Given the description of an element on the screen output the (x, y) to click on. 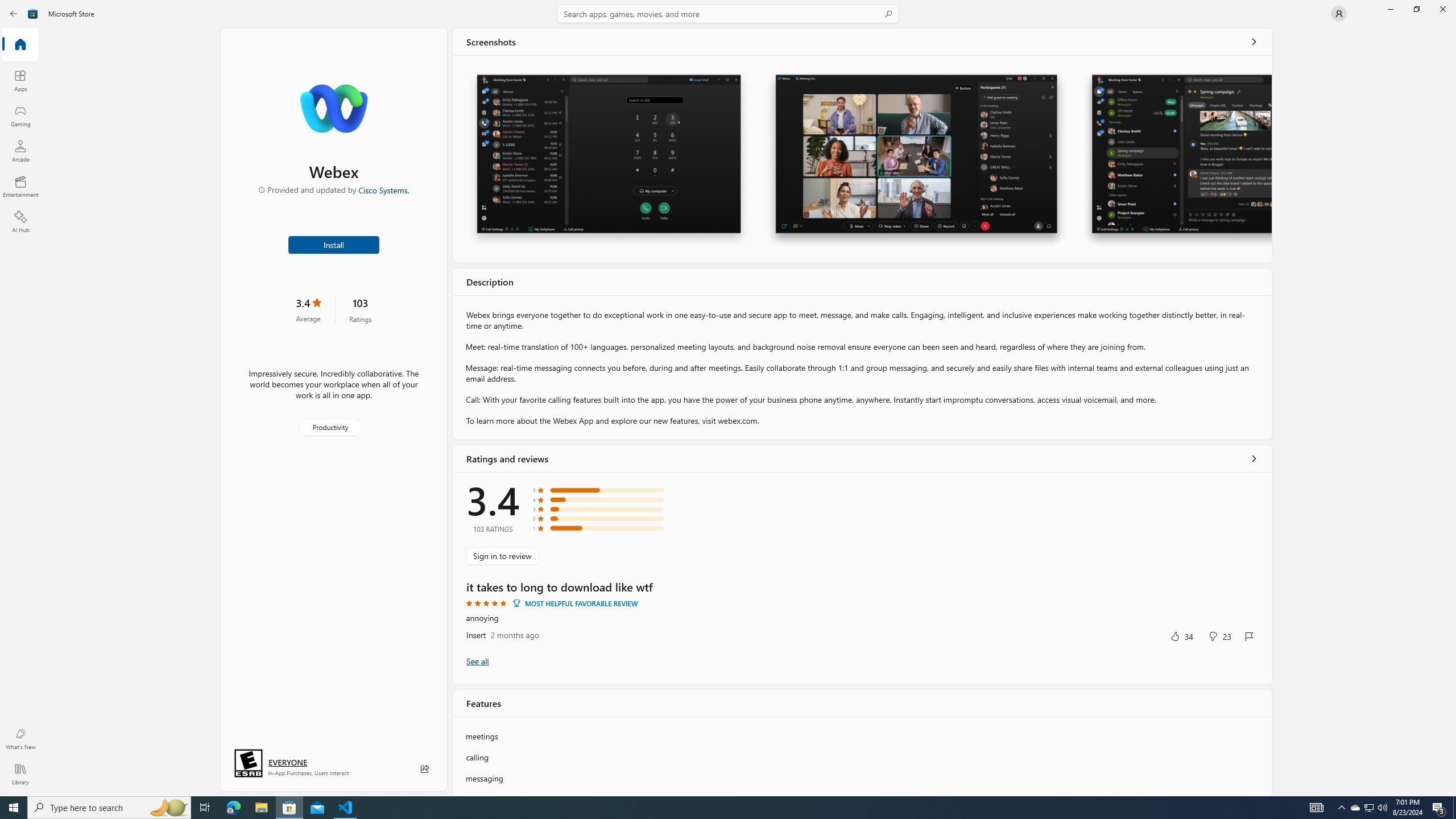
Screenshot 1 (608, 158)
Gaming (20, 115)
Home (20, 45)
Class: Image (32, 13)
Back (13, 13)
Library (20, 773)
Productivity (329, 426)
Yes, this was helpful. 34 votes. (1181, 636)
Show all ratings and reviews (1253, 458)
No, this was not helpful. 23 votes. (1219, 636)
Restore Microsoft Store (1416, 9)
AutomationID: NavigationControl (728, 398)
Apps (20, 80)
Cisco Systems. (383, 189)
What's New (20, 738)
